Given the description of an element on the screen output the (x, y) to click on. 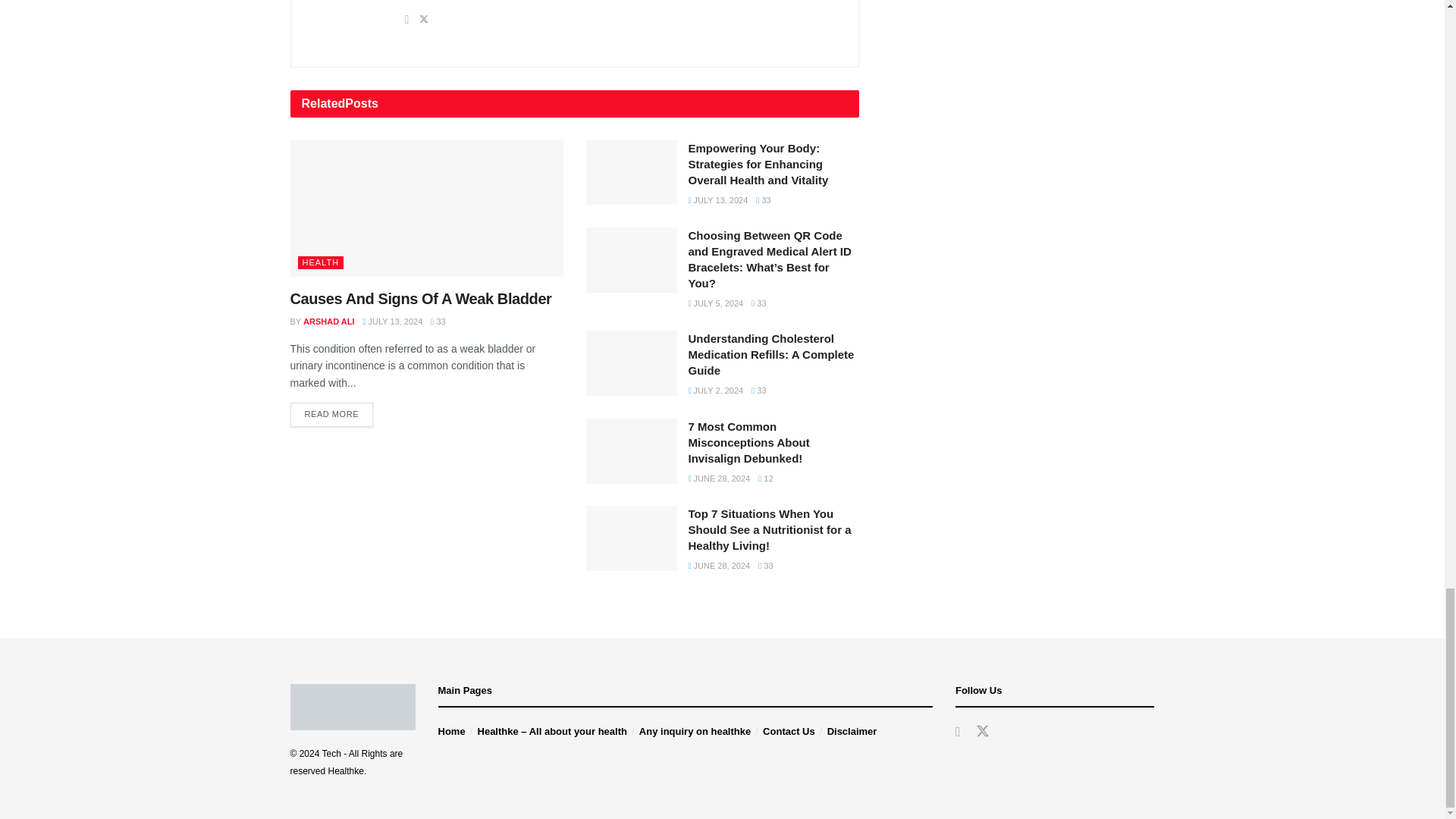
Tech (330, 753)
Healthke (346, 770)
